Given the description of an element on the screen output the (x, y) to click on. 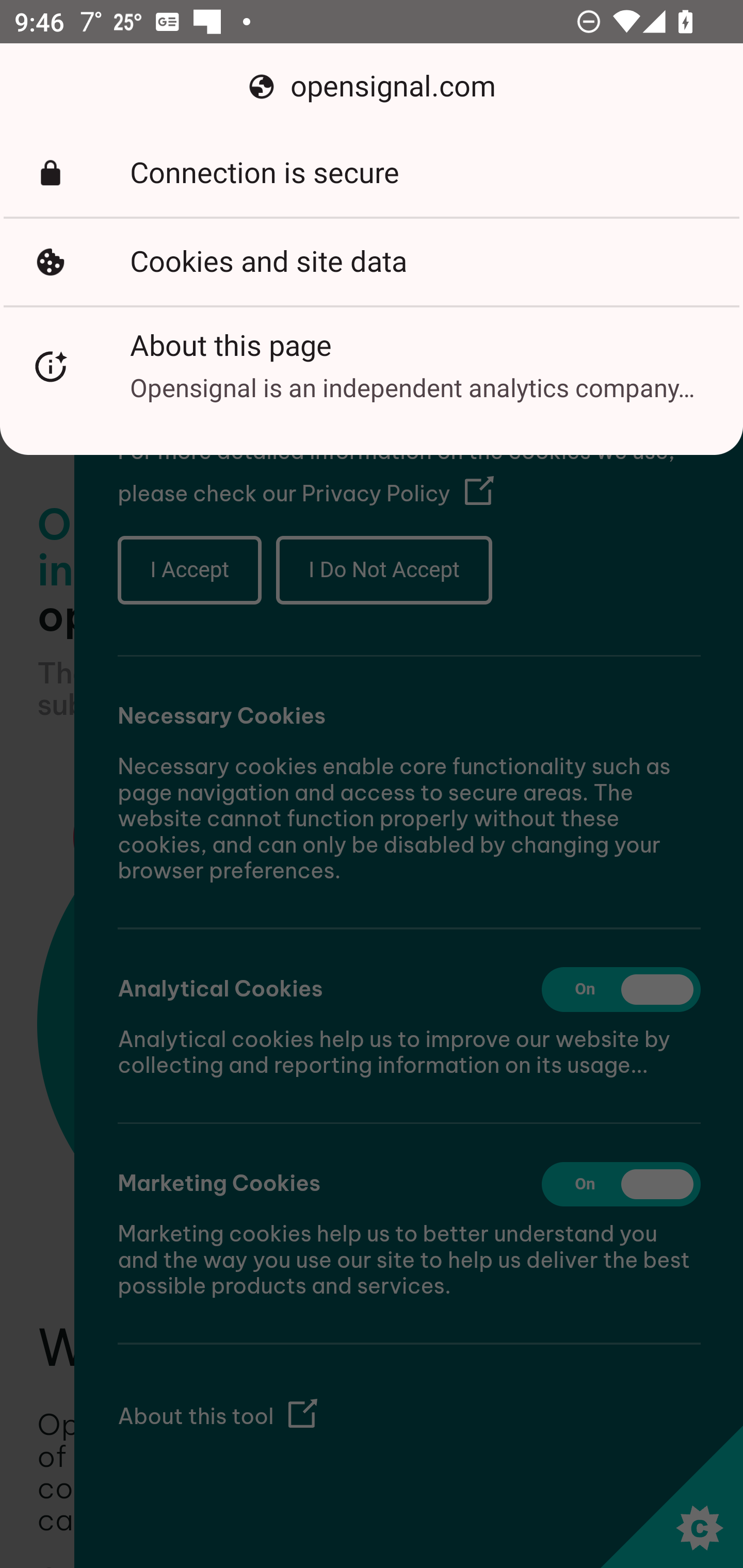
opensignal.com (371, 86)
Connection is secure (371, 173)
Cookies and site data (371, 261)
